Given the description of an element on the screen output the (x, y) to click on. 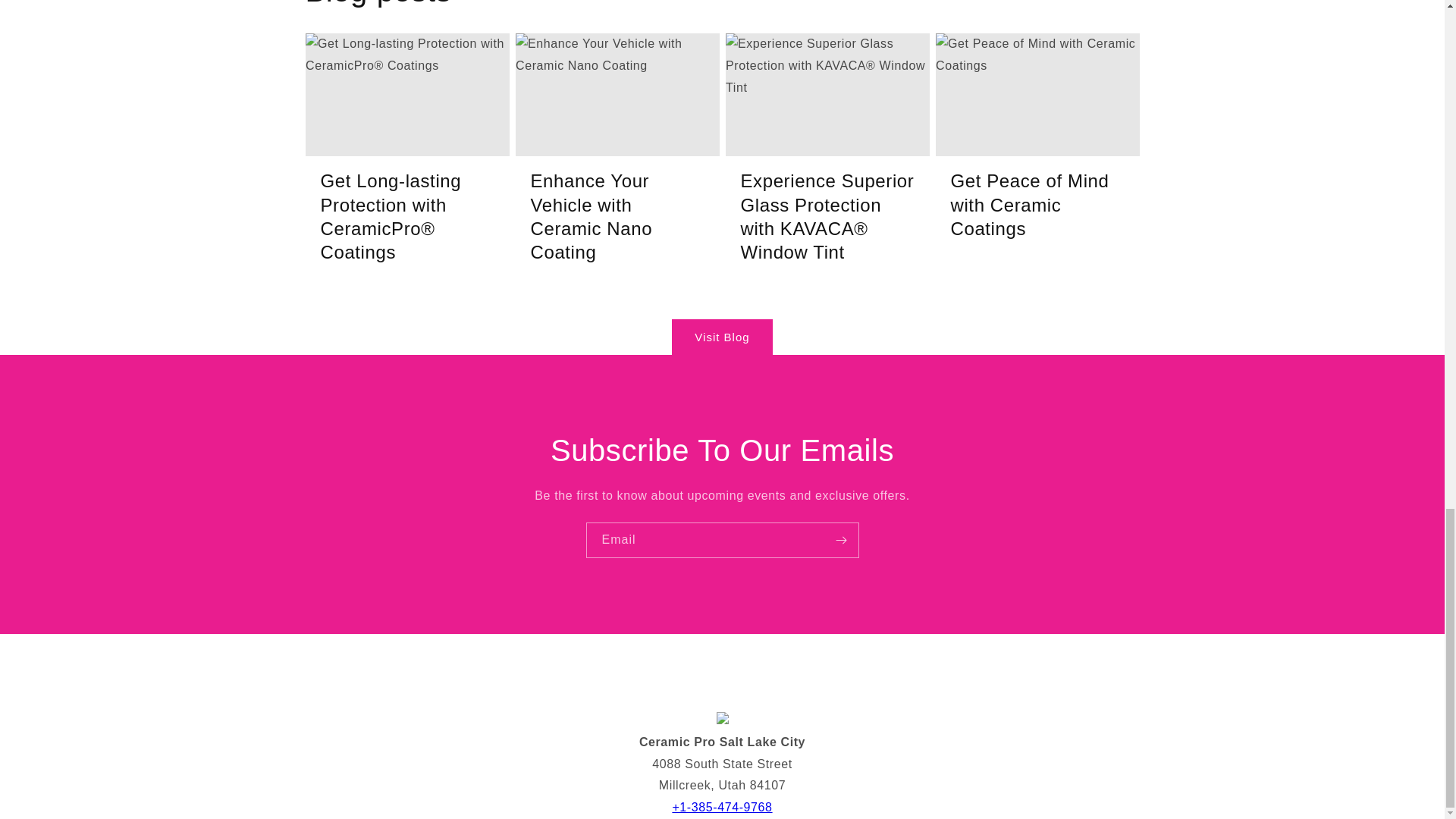
Enhance Your Vehicle with Ceramic Nano Coating (617, 215)
